Given the description of an element on the screen output the (x, y) to click on. 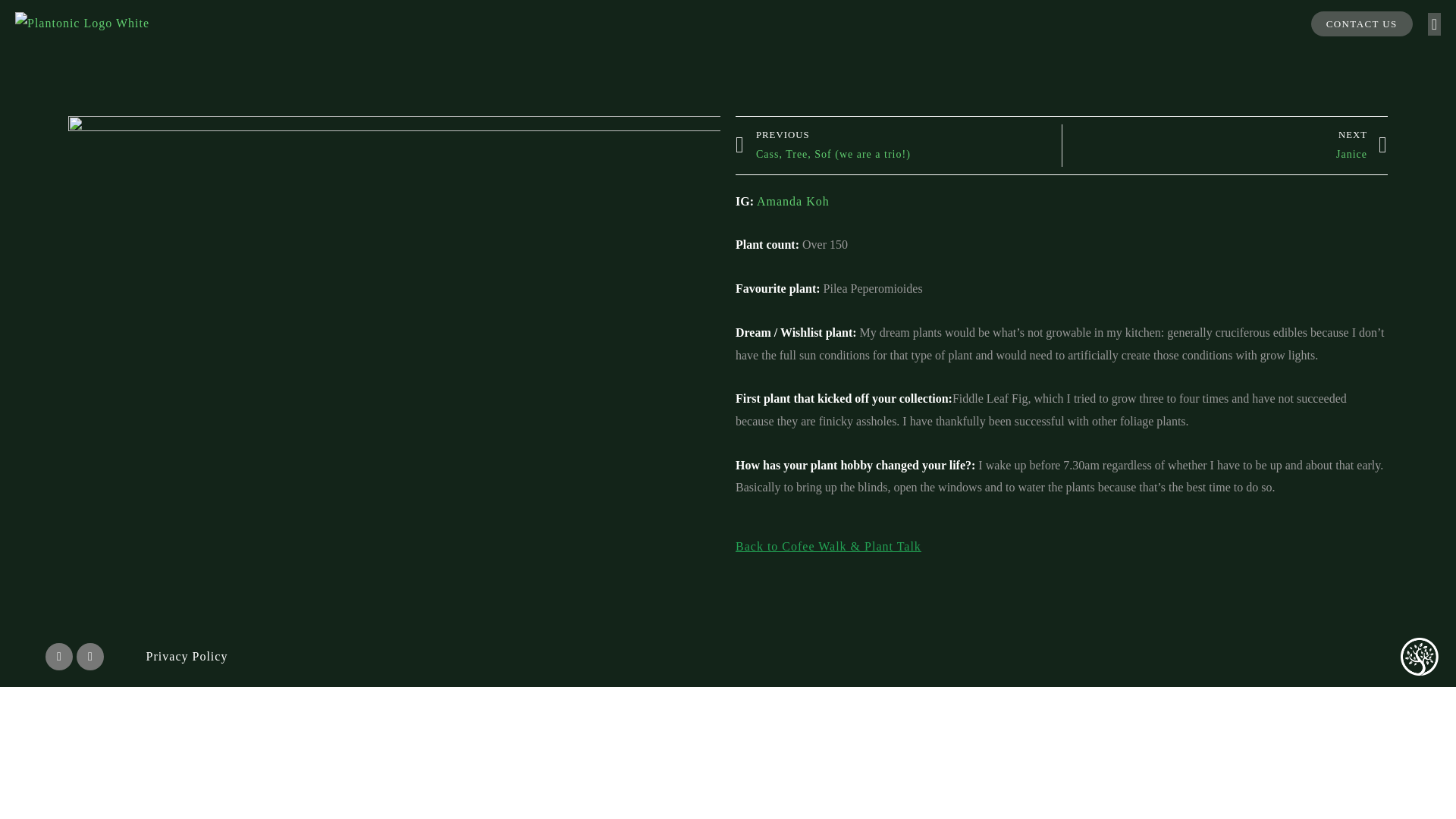
CONTACT US (1361, 23)
Plantonic icon White (1361, 145)
Privacy Policy (1419, 656)
Amanda Koh (187, 656)
